Given the description of an element on the screen output the (x, y) to click on. 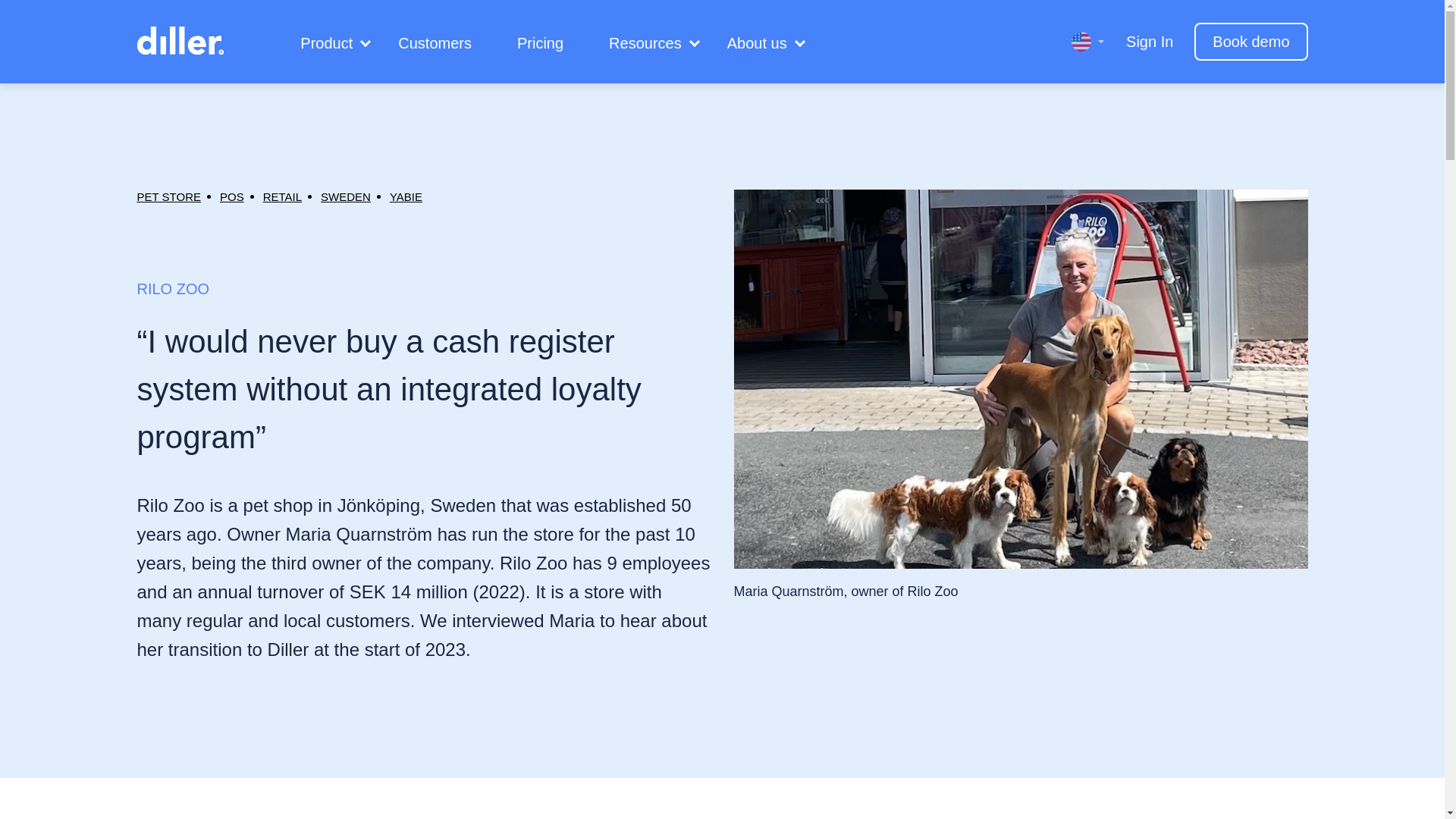
PET STORE (168, 196)
Resources (645, 42)
Sign In (1149, 41)
Pricing (540, 42)
RETAIL (282, 196)
Book demo (1250, 41)
About us (756, 42)
Product (326, 42)
POS (231, 196)
Customers (435, 42)
